Given the description of an element on the screen output the (x, y) to click on. 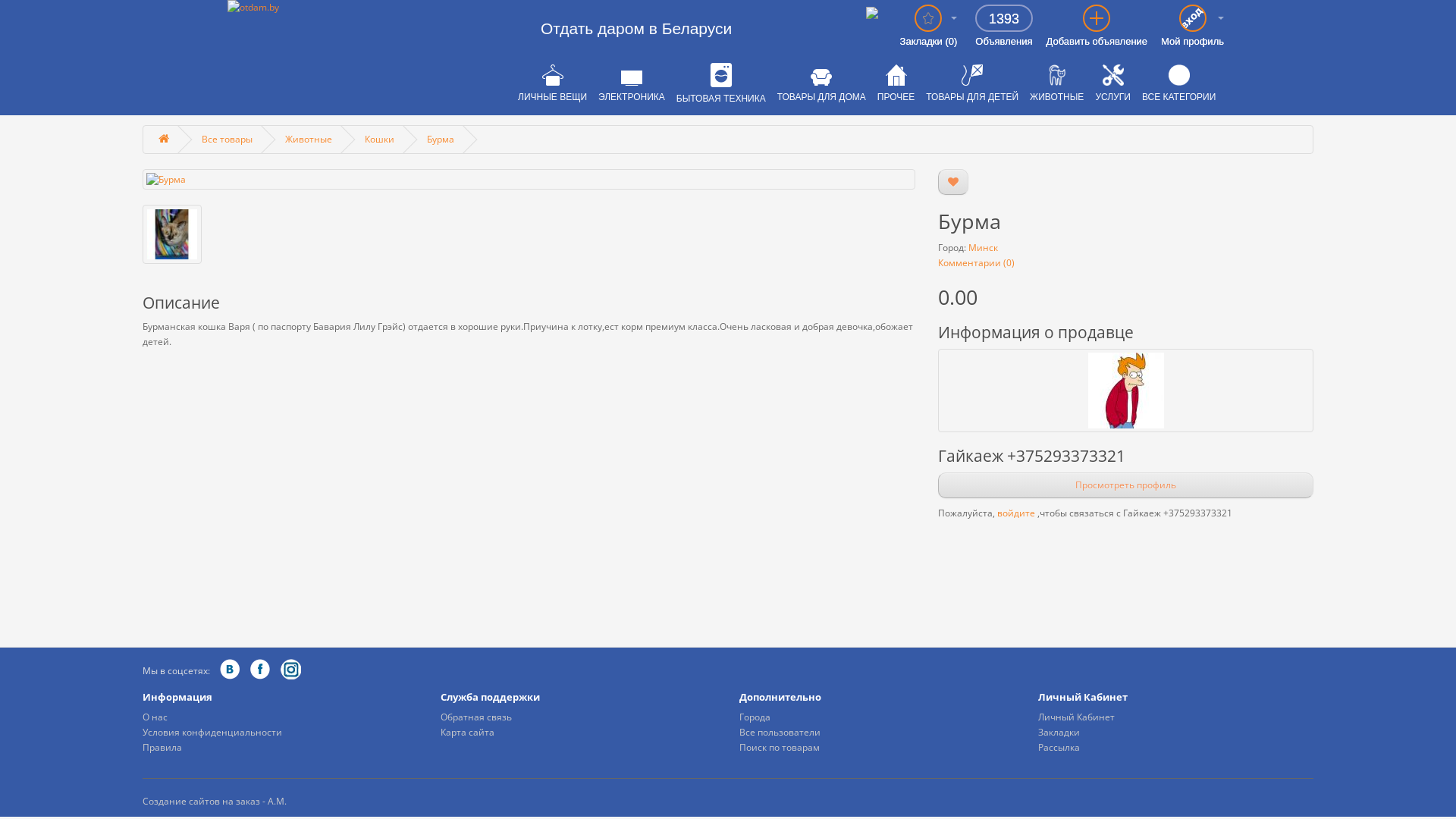
otdam.by Element type: hover (358, 7)
